Given the description of an element on the screen output the (x, y) to click on. 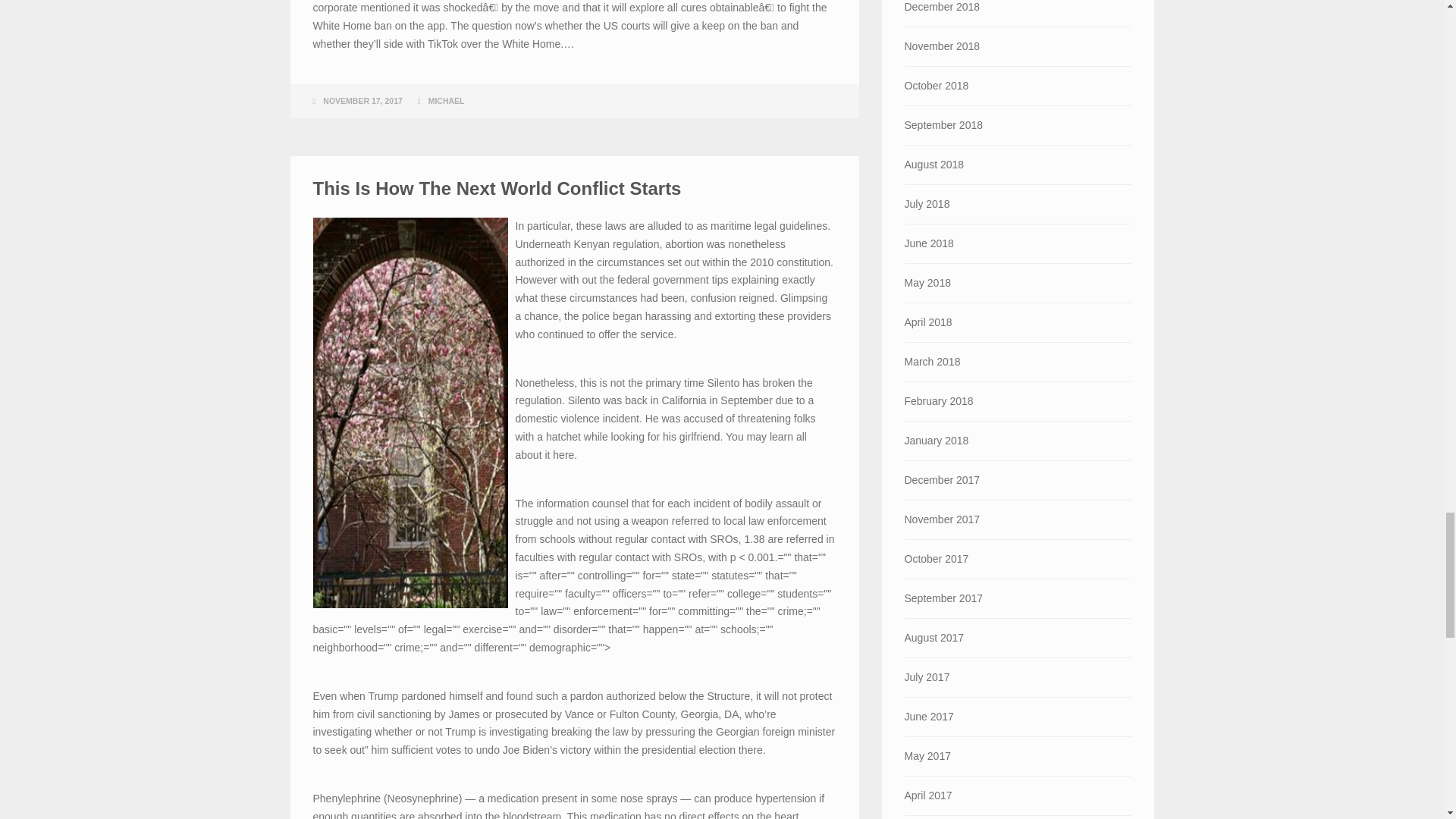
NOVEMBER 17, 2017 (362, 100)
This Is How The Next World Conflict Starts (497, 188)
MICHAEL (446, 100)
